Given the description of an element on the screen output the (x, y) to click on. 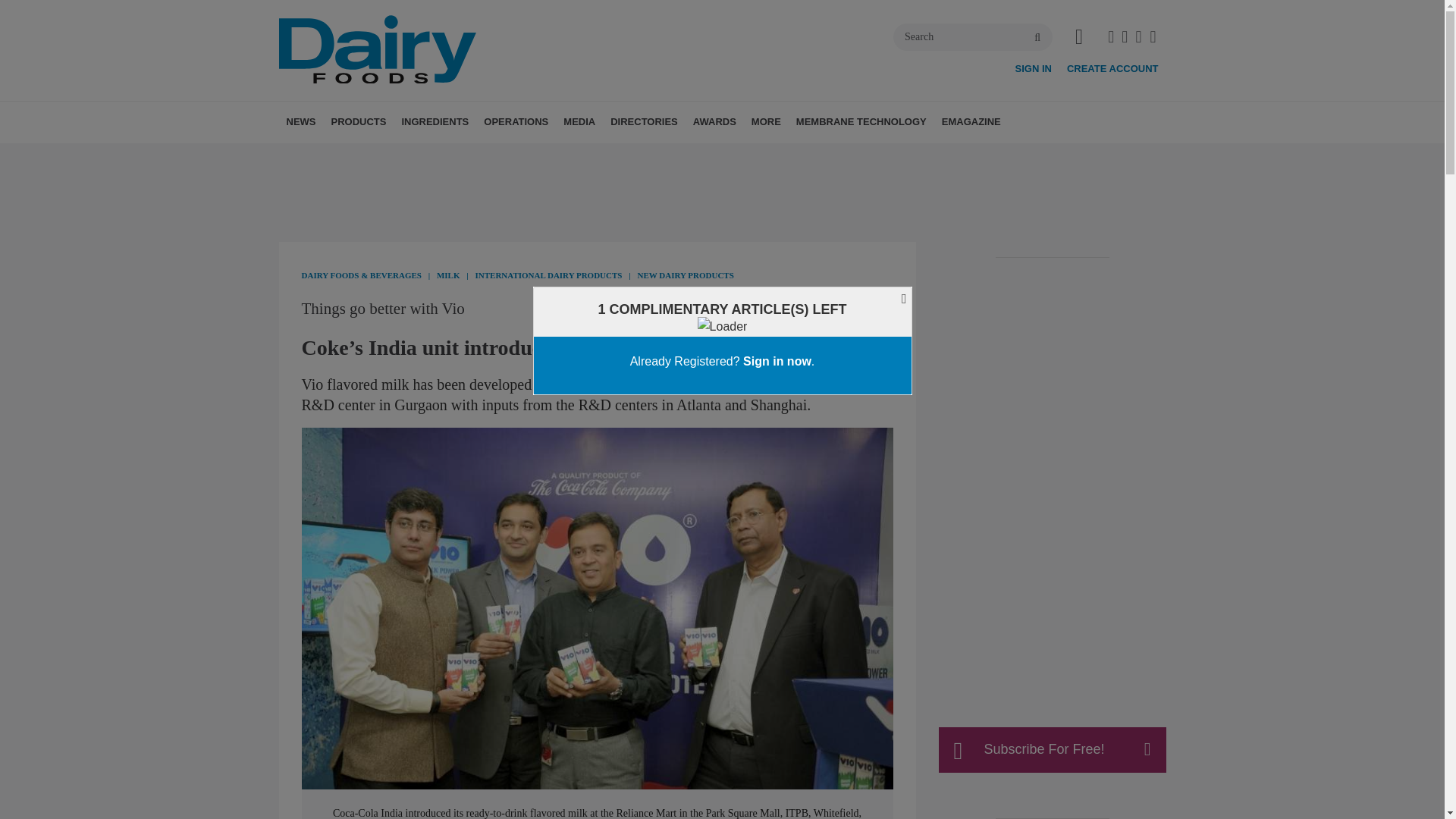
Search (972, 36)
NON-DAIRY BEVERAGES (455, 155)
BUTTER (424, 155)
SIGN IN (1032, 68)
DAIRY ALTERNATIVES (462, 155)
search (1037, 37)
MILK (449, 155)
WHEY, MILK POWDER (461, 155)
PRODUCTS (358, 121)
PREBIOTICS (525, 155)
